Given the description of an element on the screen output the (x, y) to click on. 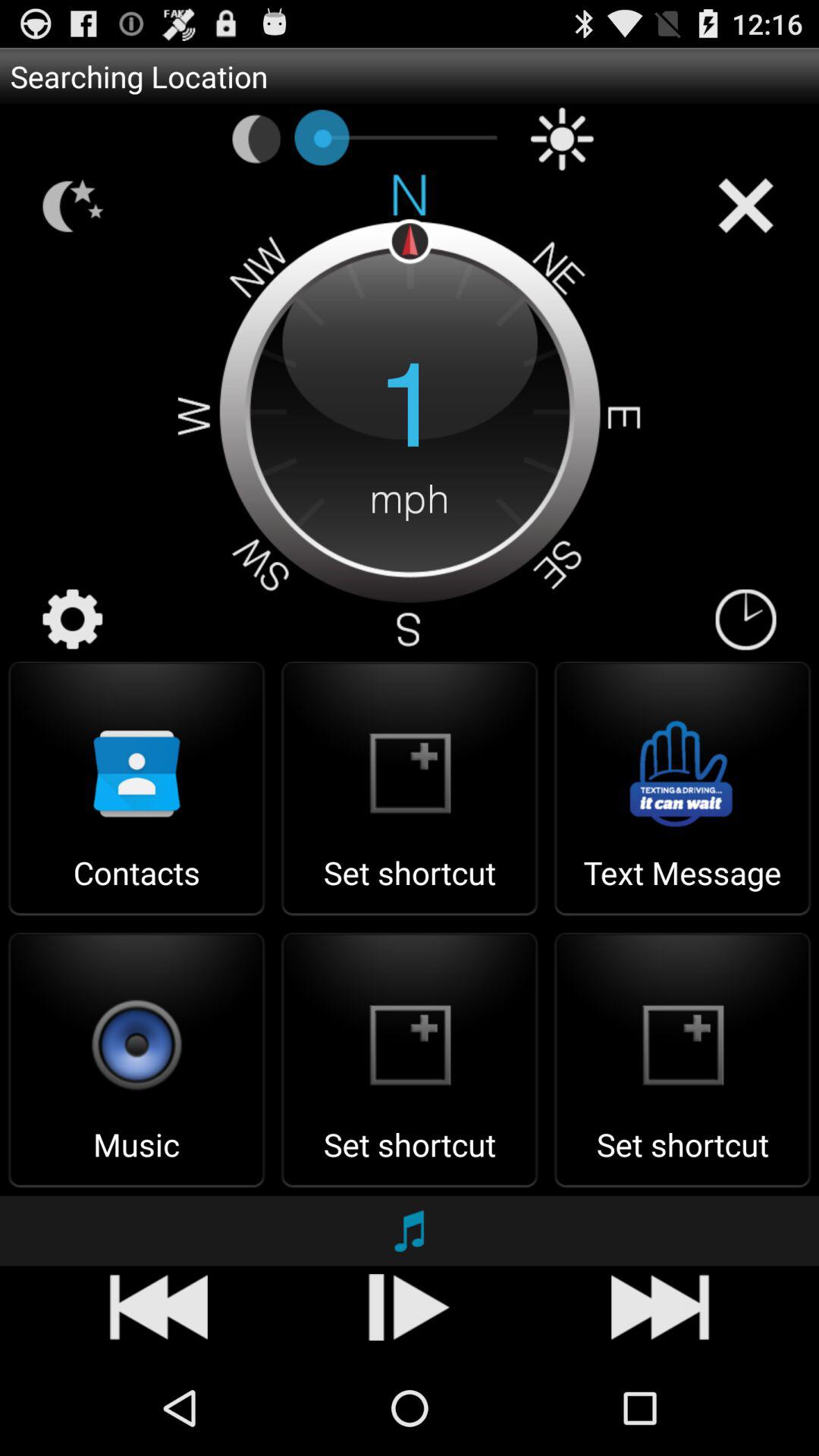
press the icon next to the 1 (745, 619)
